Given the description of an element on the screen output the (x, y) to click on. 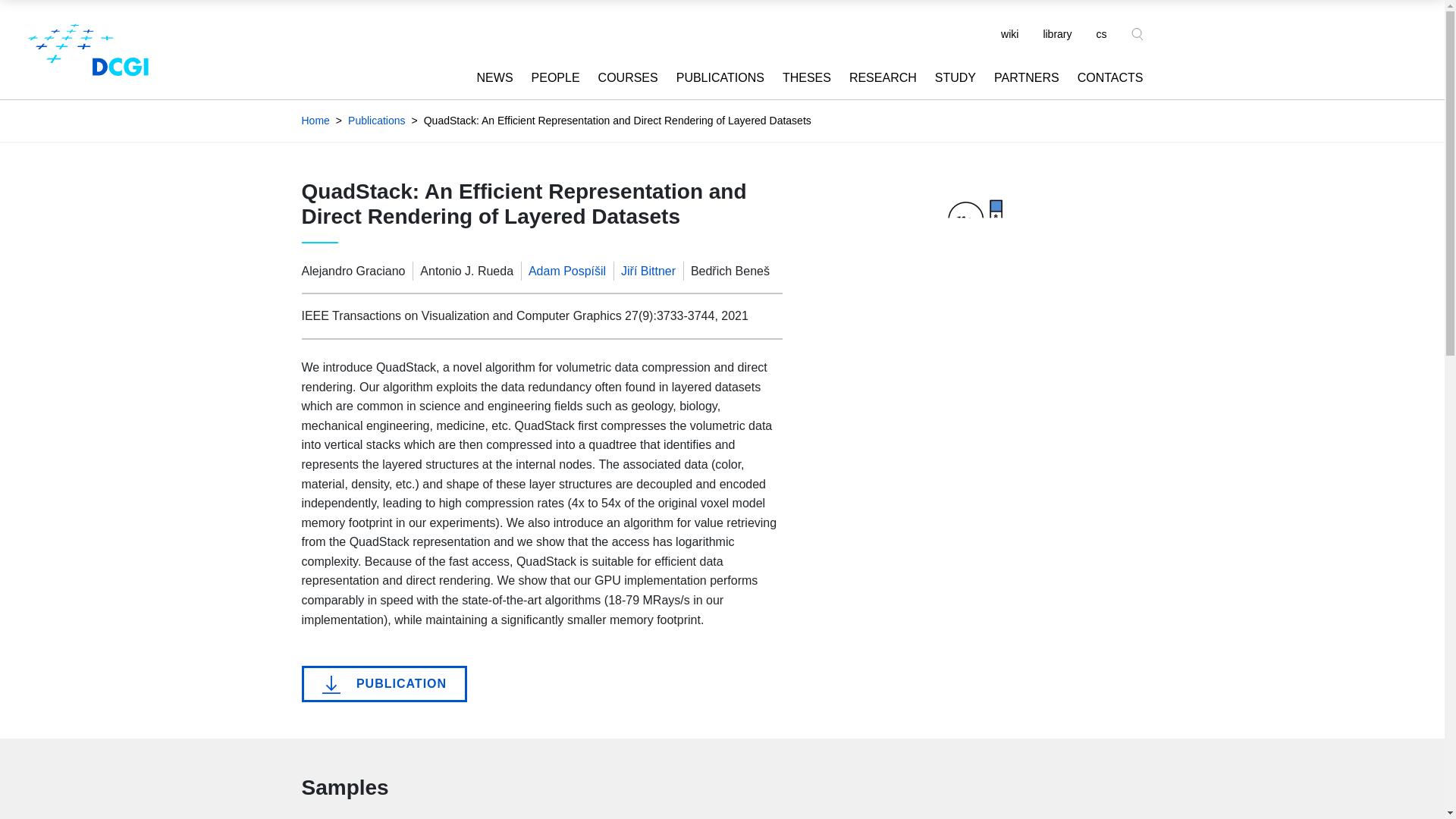
library (1056, 33)
THESES (797, 77)
STUDY (946, 77)
RESEARCH (874, 77)
CONTACTS (1100, 77)
cs (1101, 33)
PEOPLE (546, 77)
Home (315, 120)
NEWS (485, 77)
PARTNERS (1017, 77)
